Given the description of an element on the screen output the (x, y) to click on. 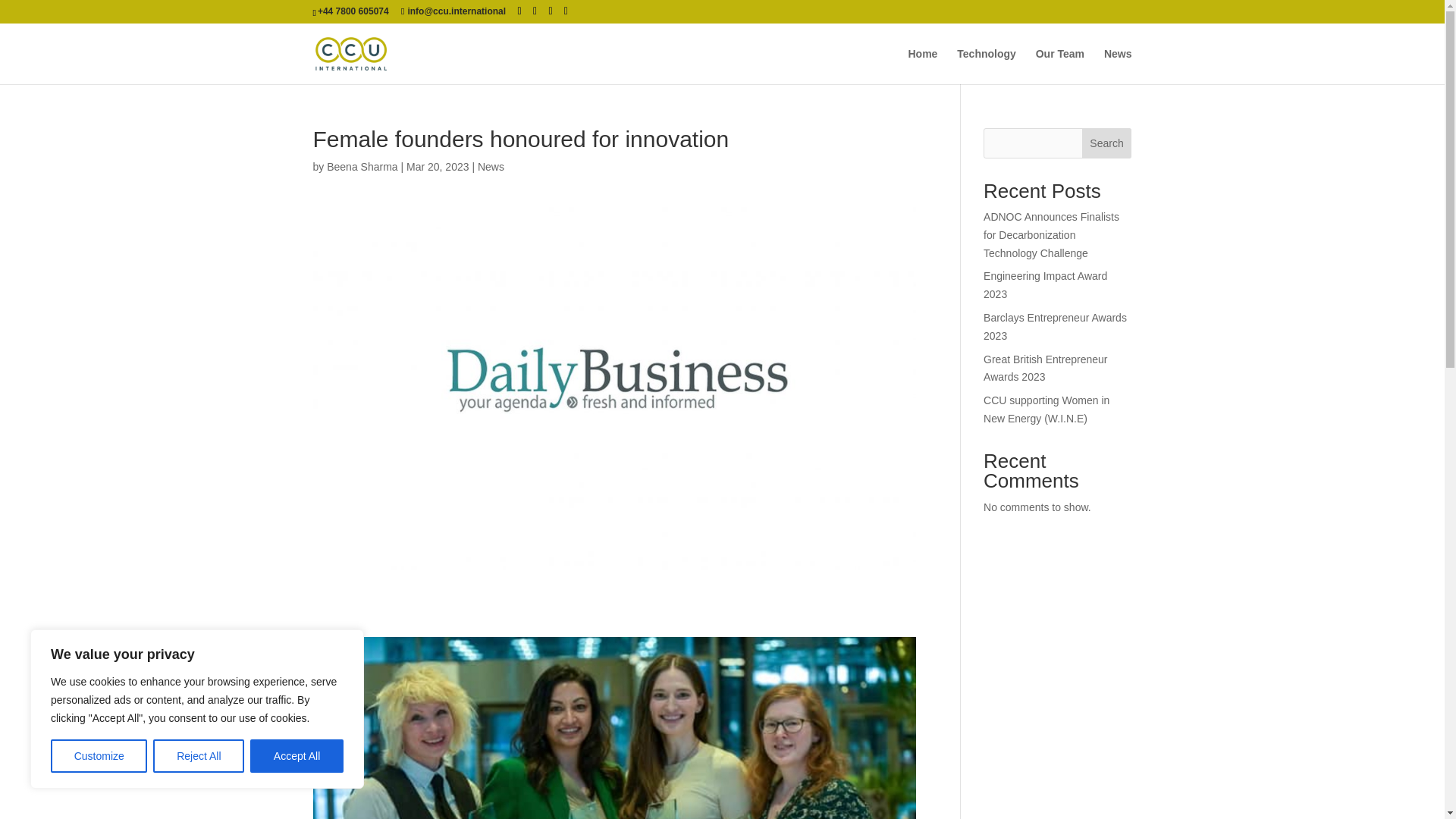
Barclays Entrepreneur Awards 2023 (1055, 327)
Customize (98, 756)
Scotsman image (614, 728)
Search (1106, 142)
Posts by Beena Sharma (361, 166)
Our Team (1059, 66)
Reject All (198, 756)
Technology (986, 66)
Great British Entrepreneur Awards 2023 (1045, 368)
